Given the description of an element on the screen output the (x, y) to click on. 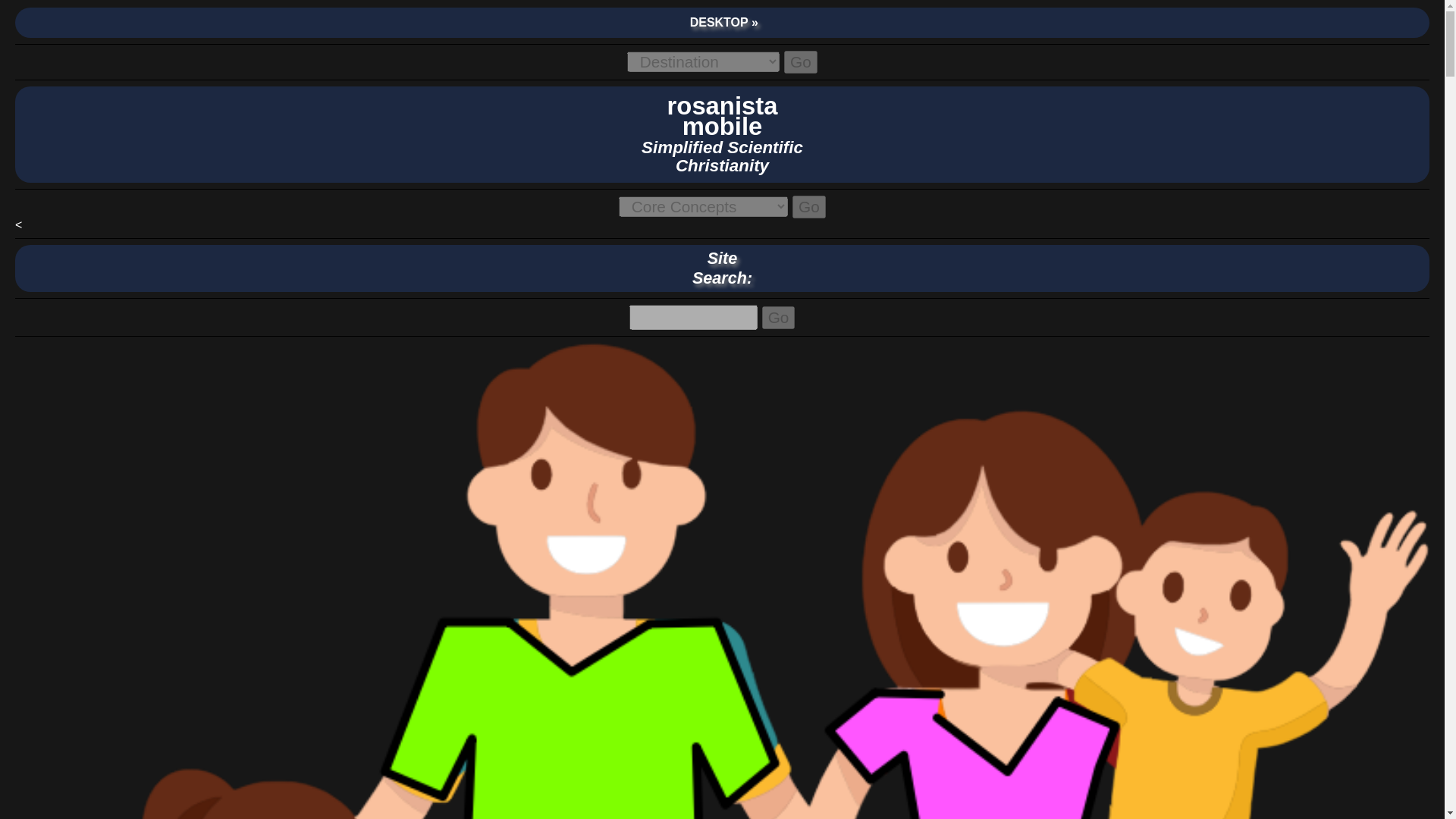
Go (777, 317)
Go (808, 206)
Go (722, 138)
Go (800, 61)
